Given the description of an element on the screen output the (x, y) to click on. 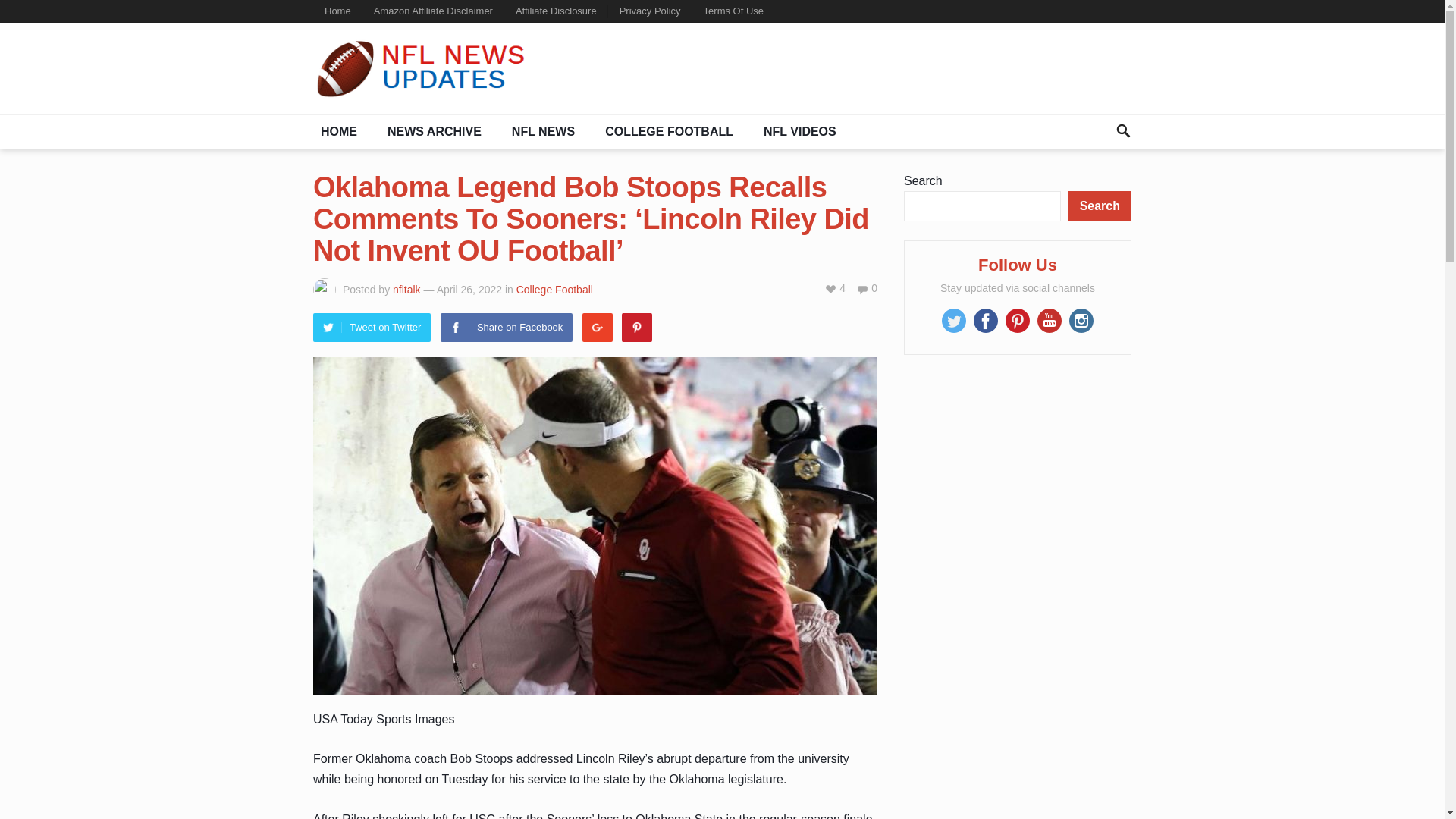
Amazon Affiliate Disclaimer (432, 11)
NEWS ARCHIVE (434, 131)
Affiliate Disclosure (555, 11)
Posts by nfltalk (406, 289)
NFL VIDEOS (799, 131)
Share on Facebook (506, 327)
COLLEGE FOOTBALL (668, 131)
College Football (554, 289)
NFL NEWS (542, 131)
nfltalk (406, 289)
